Given the description of an element on the screen output the (x, y) to click on. 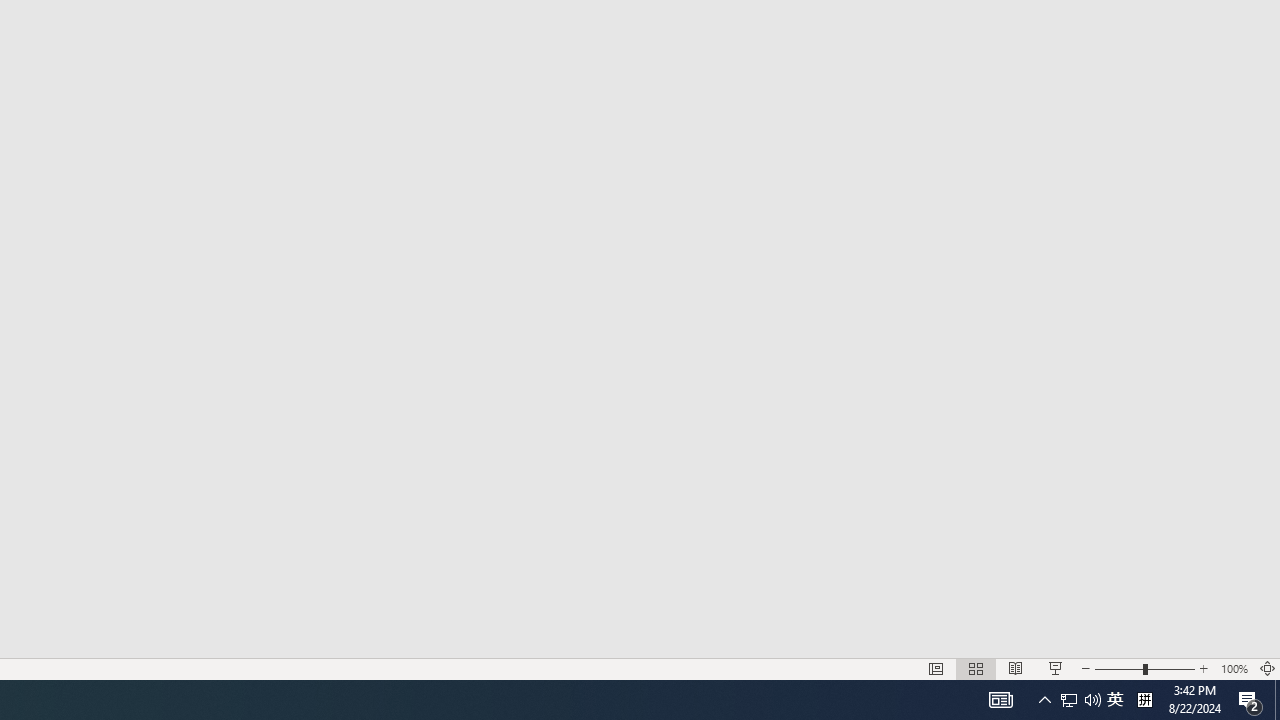
Zoom 100% (1234, 668)
